Given the description of an element on the screen output the (x, y) to click on. 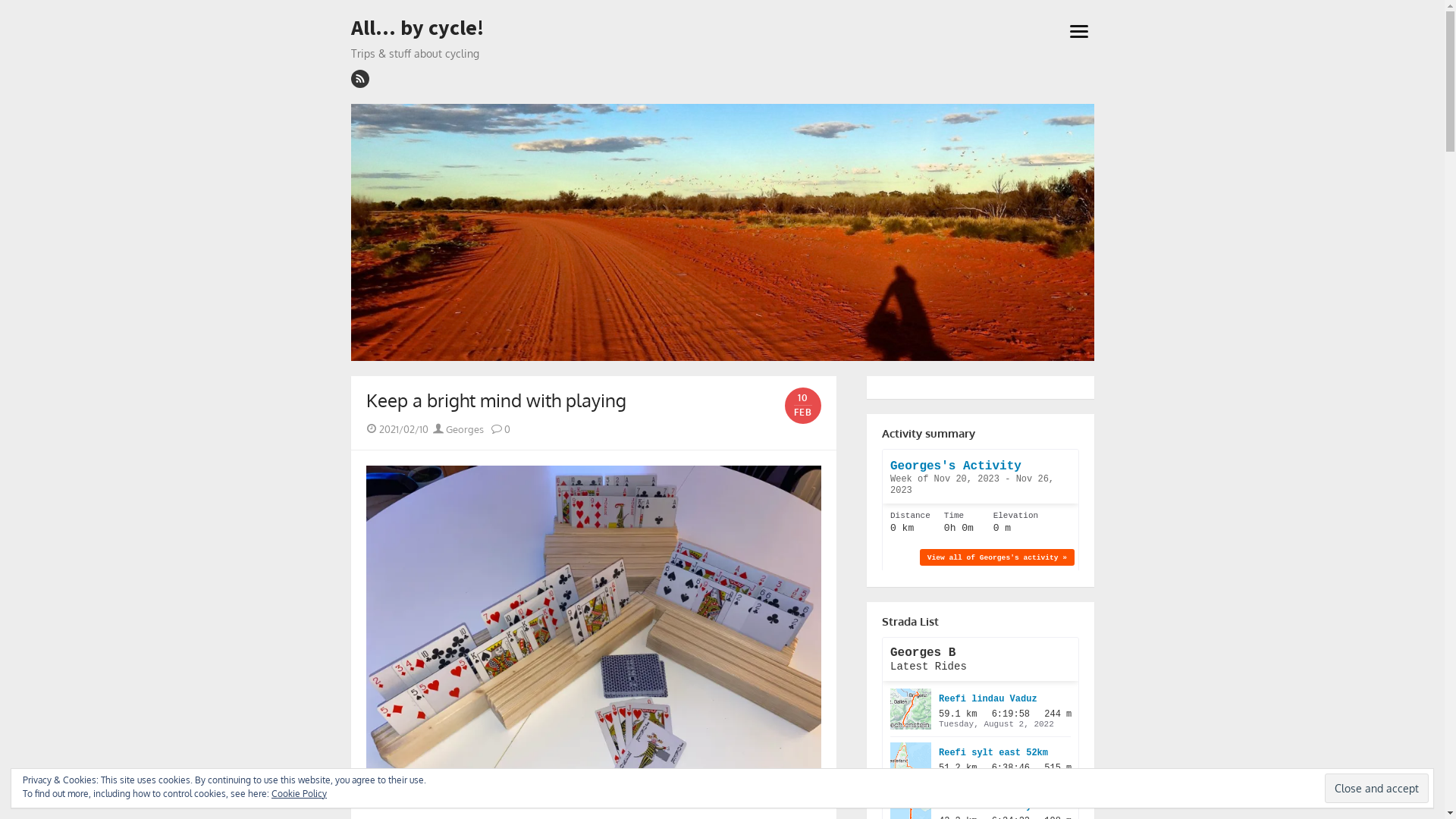
Georges Element type: text (458, 429)
open menu Element type: text (1078, 30)
2021/02/10 Element type: text (403, 429)
rss Element type: hover (359, 78)
Cookie Policy Element type: text (298, 793)
Close and accept Element type: text (1376, 788)
0 Element type: text (500, 429)
